Given the description of an element on the screen output the (x, y) to click on. 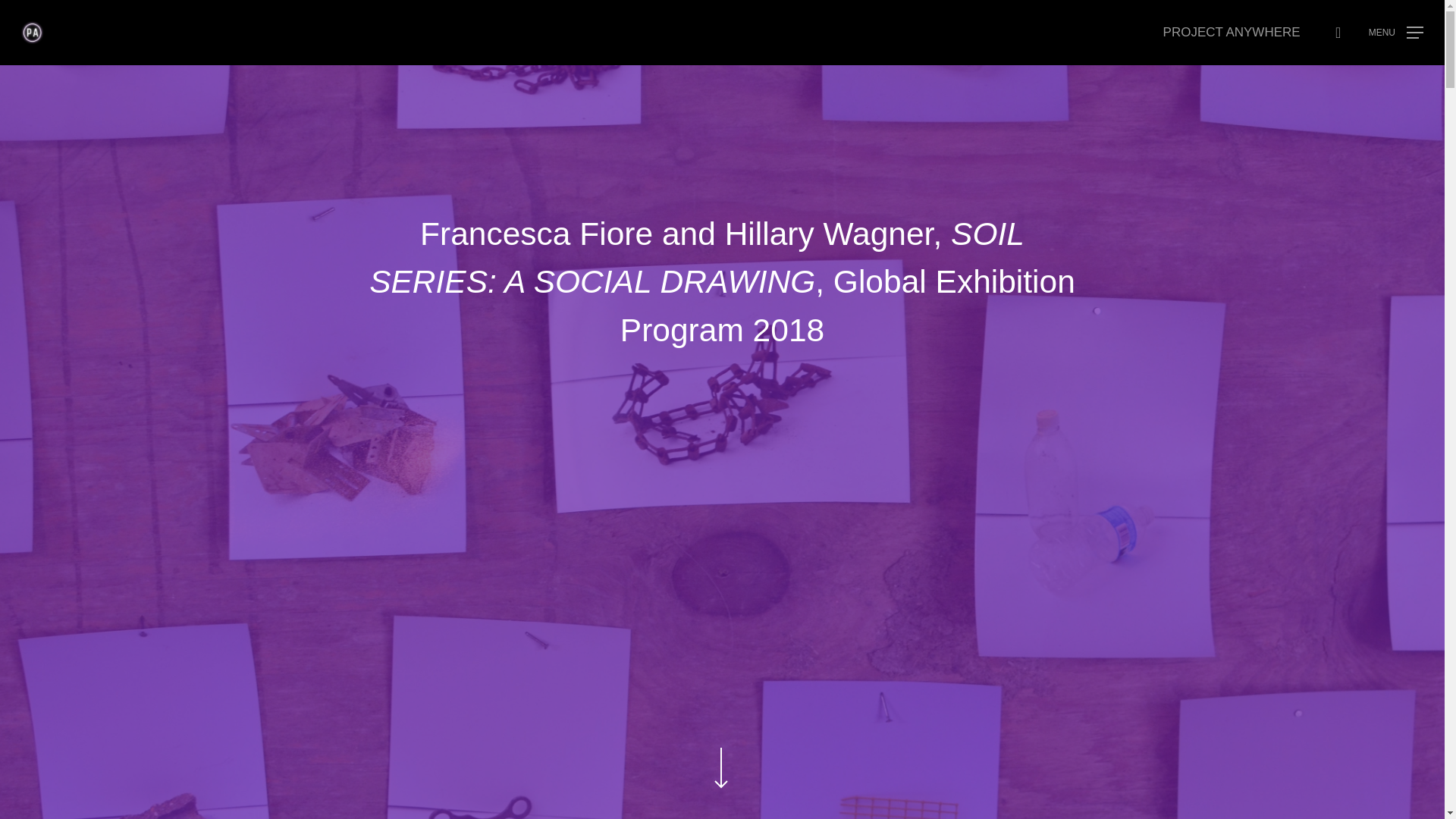
MENU (1395, 32)
search (1338, 32)
2018 (788, 330)
